Given the description of an element on the screen output the (x, y) to click on. 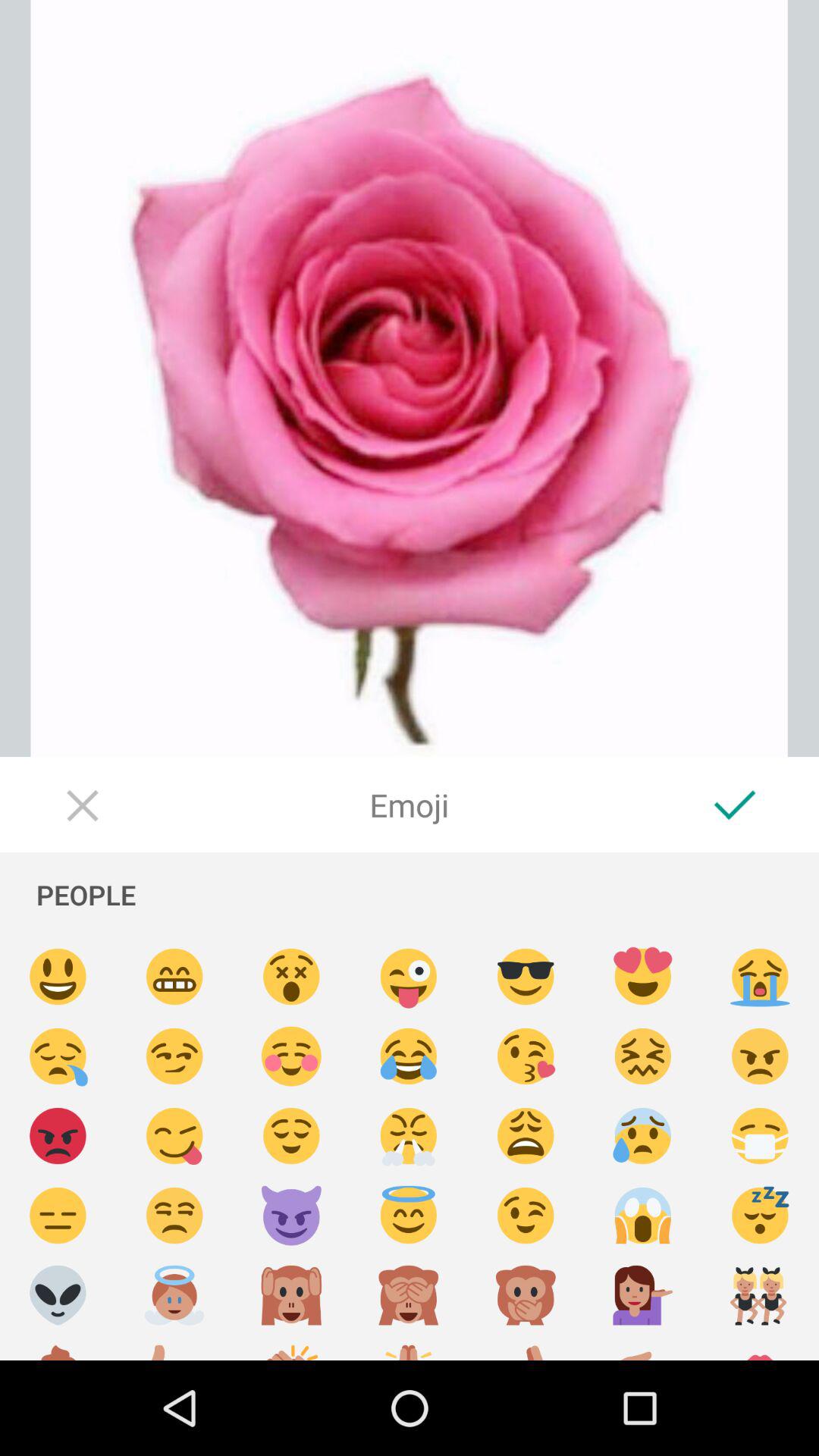
tag as sad (525, 1136)
